Given the description of an element on the screen output the (x, y) to click on. 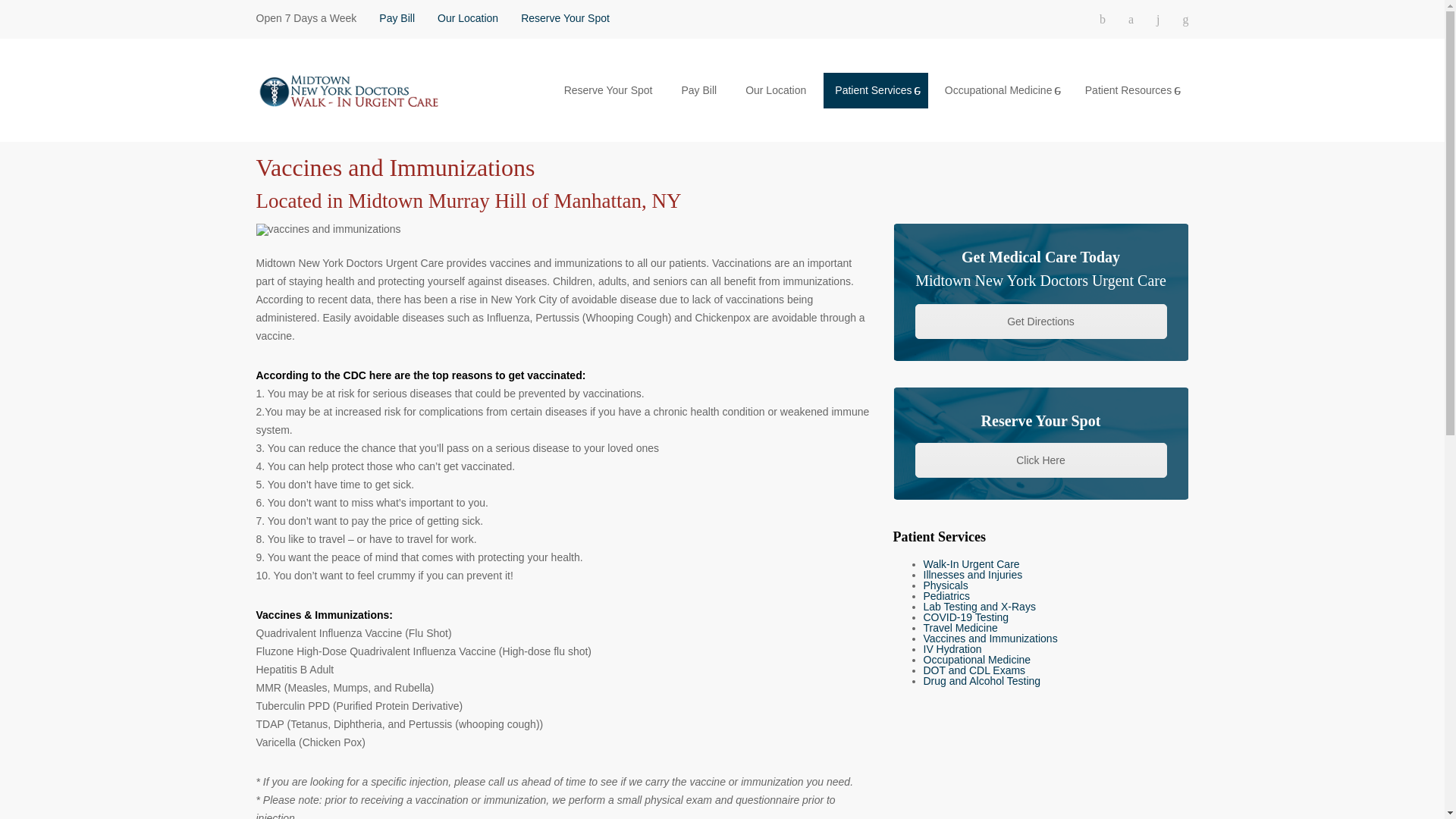
Patient Services (875, 90)
Our Location (775, 90)
Reserve Your Spot (1040, 460)
Pay Bill (396, 18)
Reserve Your Spot (608, 90)
Reserve Your Spot (565, 18)
vaccines and immunizations (328, 229)
Patient Resources (1131, 90)
Our Location (467, 18)
Pay Bill (698, 90)
